Given the description of an element on the screen output the (x, y) to click on. 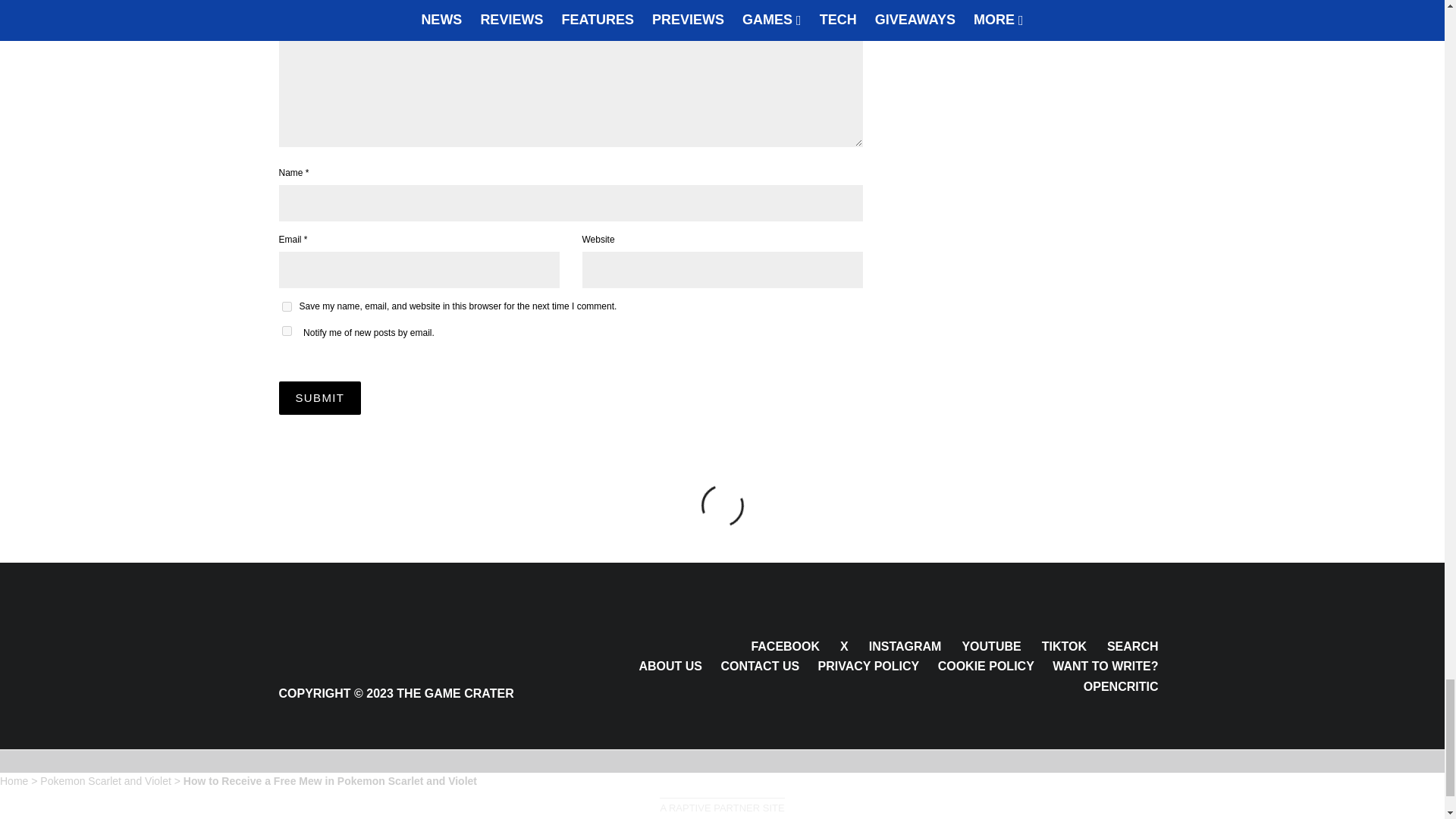
Submit (320, 397)
subscribe (287, 330)
yes (287, 307)
